Given the description of an element on the screen output the (x, y) to click on. 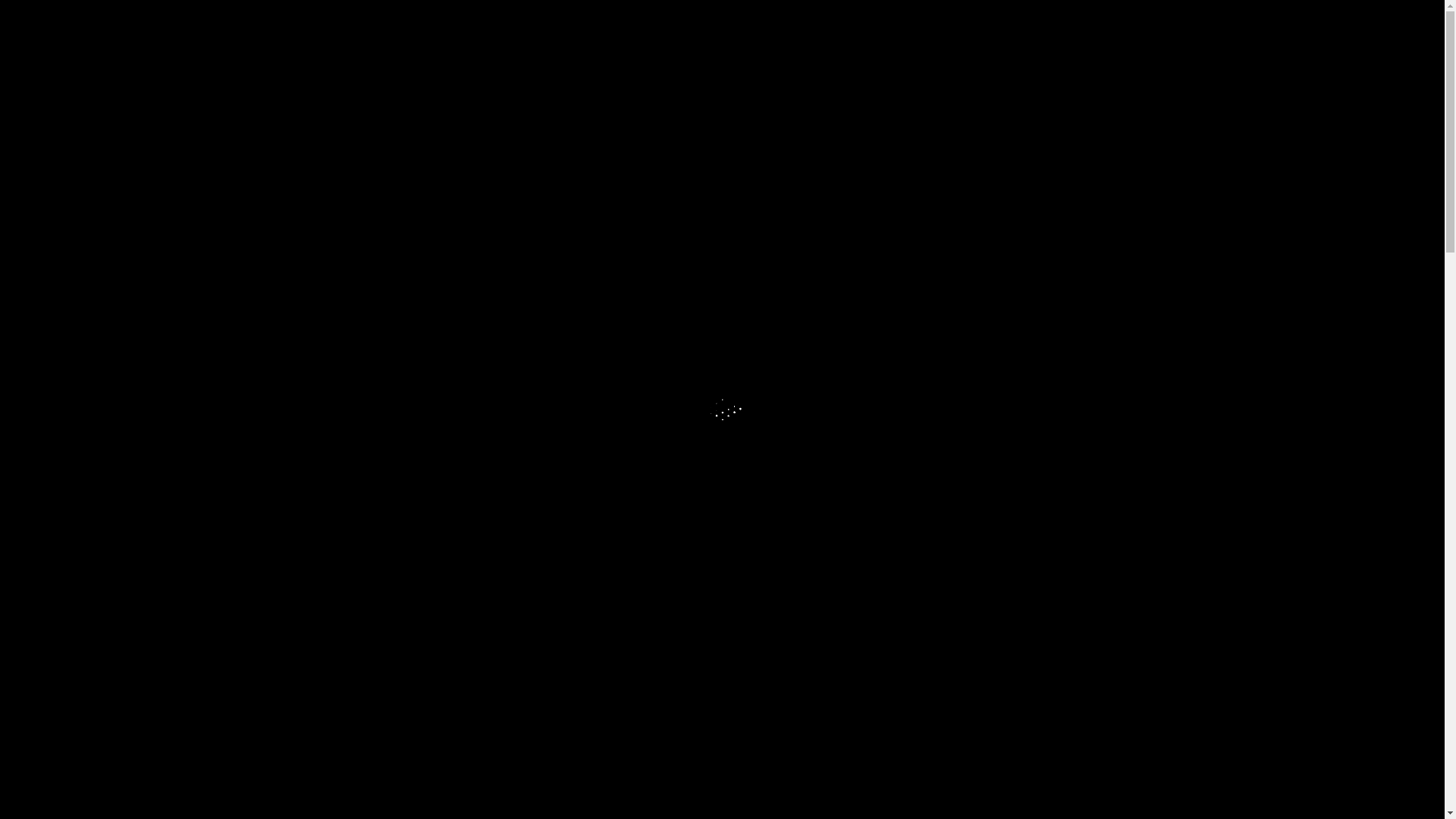
Concrete Element type: text (338, 220)
